Given the description of an element on the screen output the (x, y) to click on. 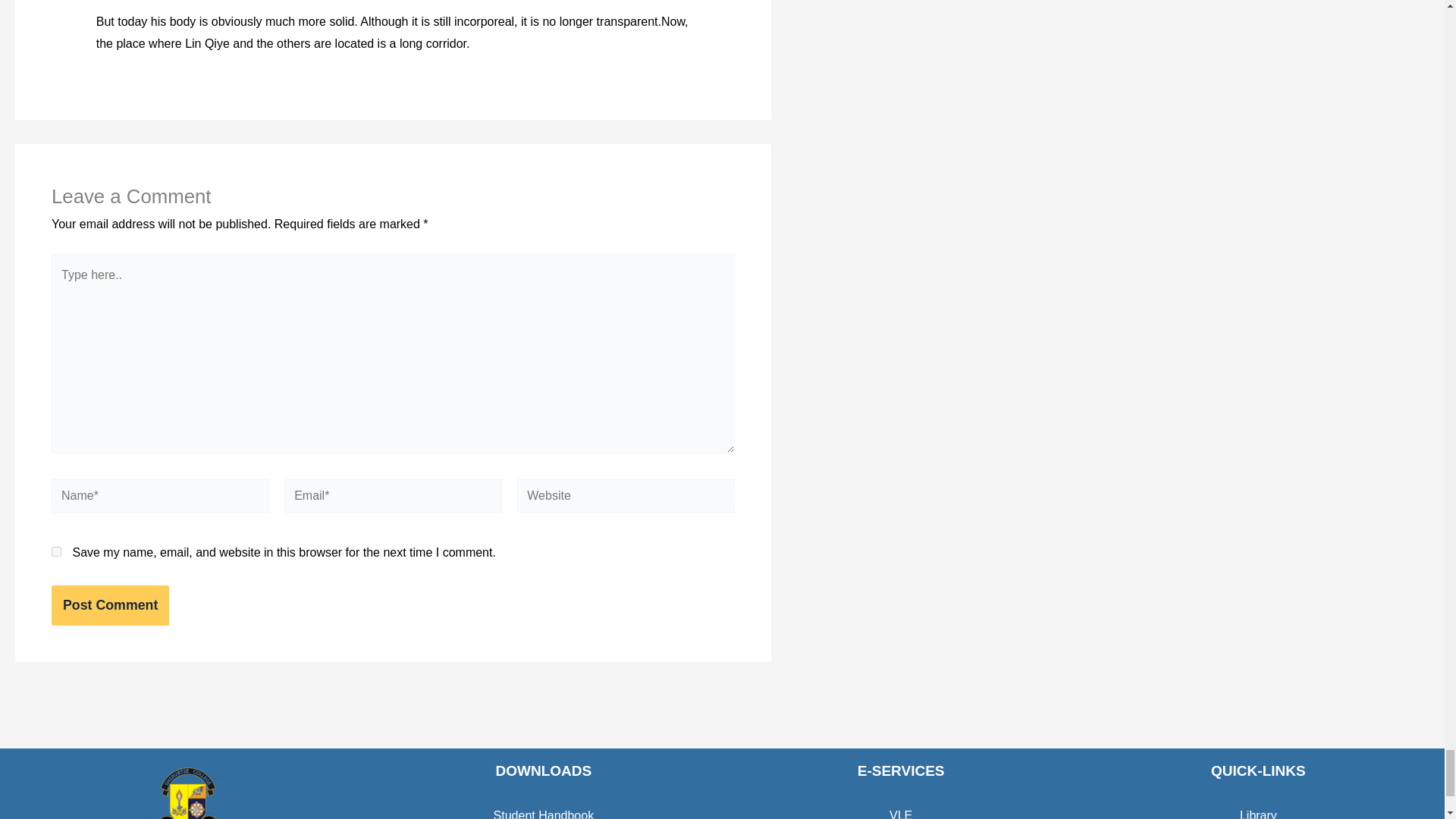
yes (55, 551)
Post Comment (109, 605)
